Given the description of an element on the screen output the (x, y) to click on. 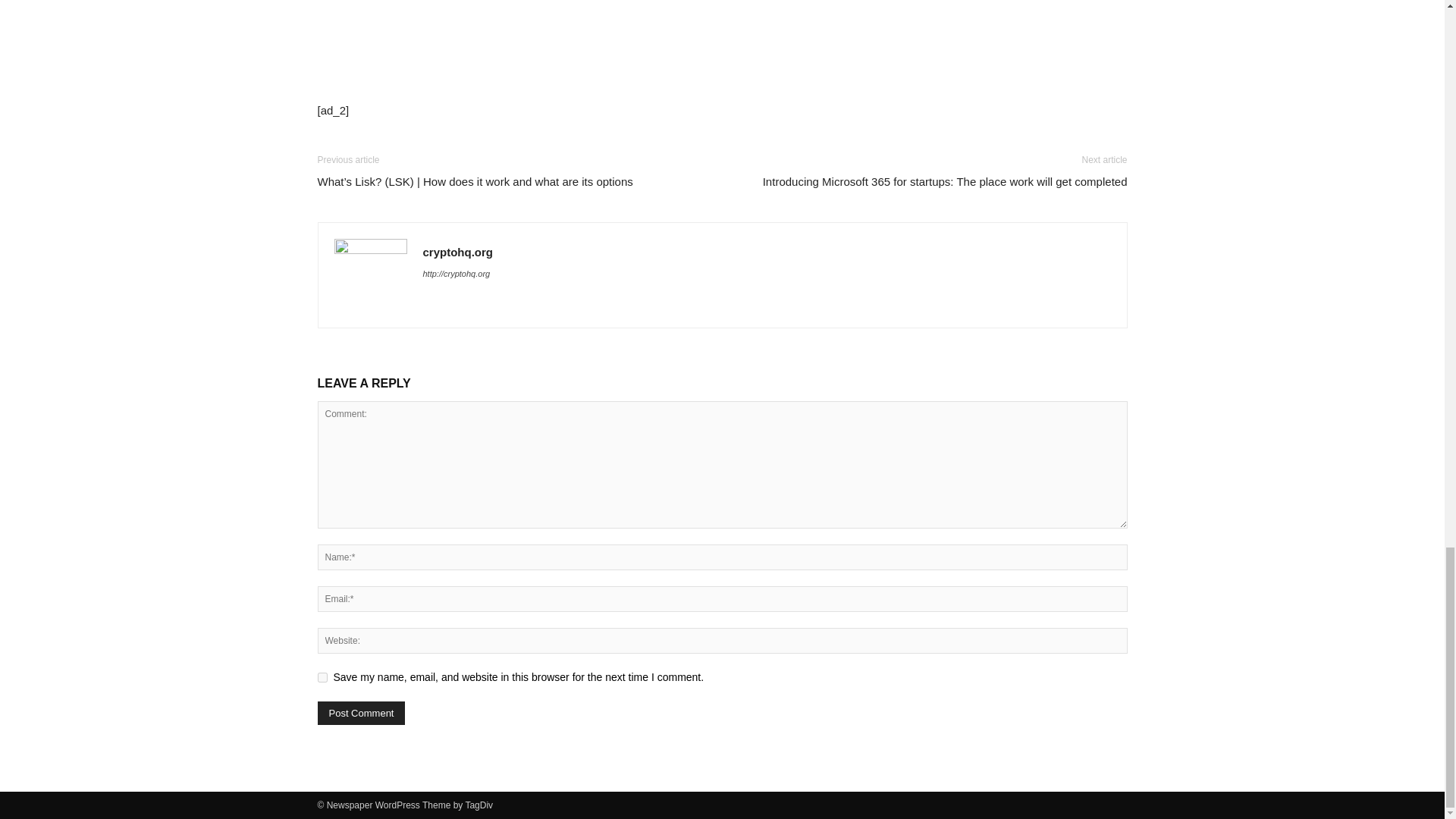
cryptohq.org (458, 251)
Post Comment (360, 712)
yes (321, 677)
Post Comment (360, 712)
